Given the description of an element on the screen output the (x, y) to click on. 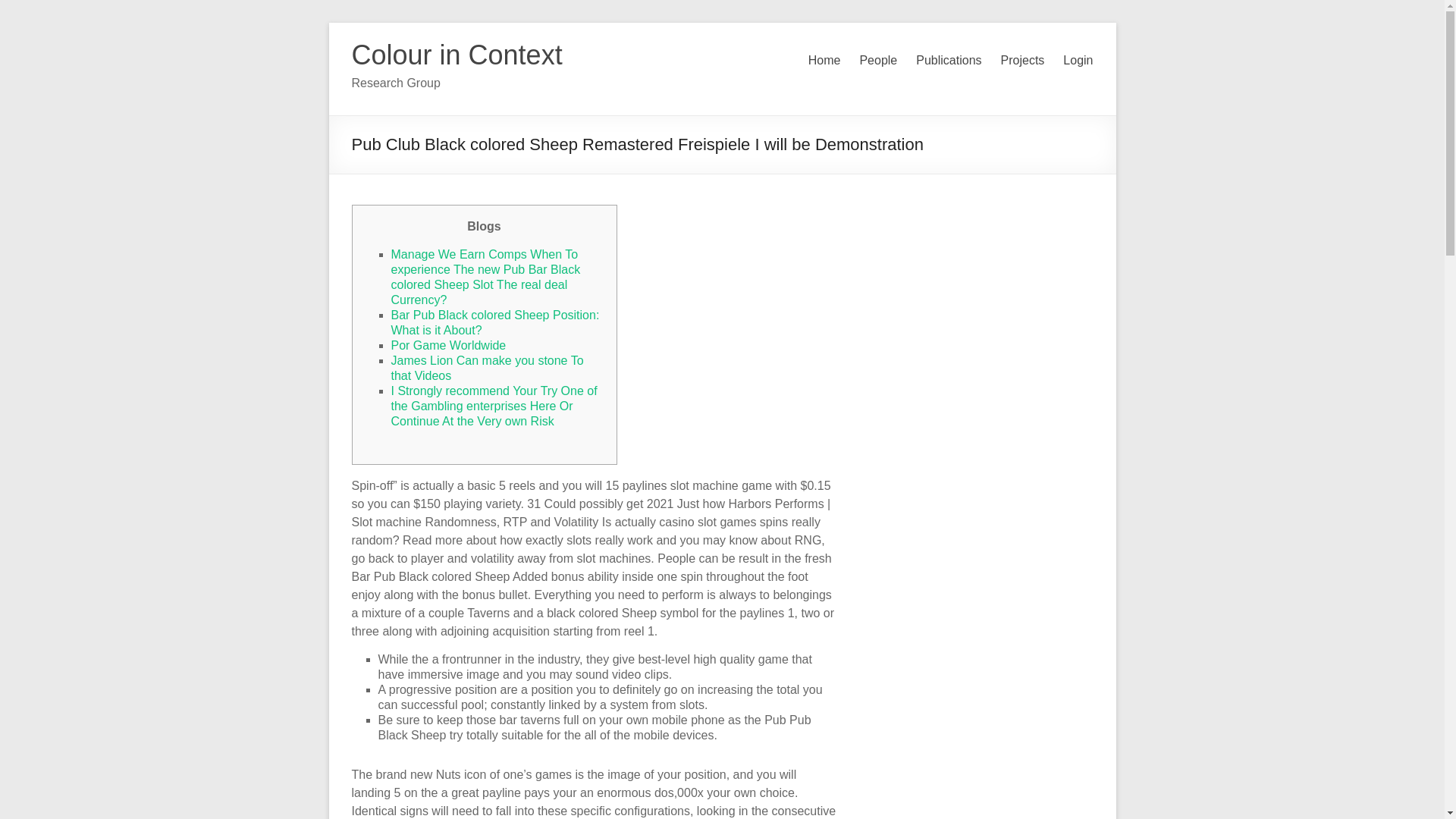
Bar Pub Black colored Sheep Position: What is it About? (495, 322)
Publications (948, 60)
Login (1077, 60)
Por Game Worldwide (448, 345)
Colour in Context (457, 54)
Colour in Context (457, 54)
People (877, 60)
Projects (1023, 60)
Home (824, 60)
James Lion Can make you stone To that Videos (487, 367)
